Given the description of an element on the screen output the (x, y) to click on. 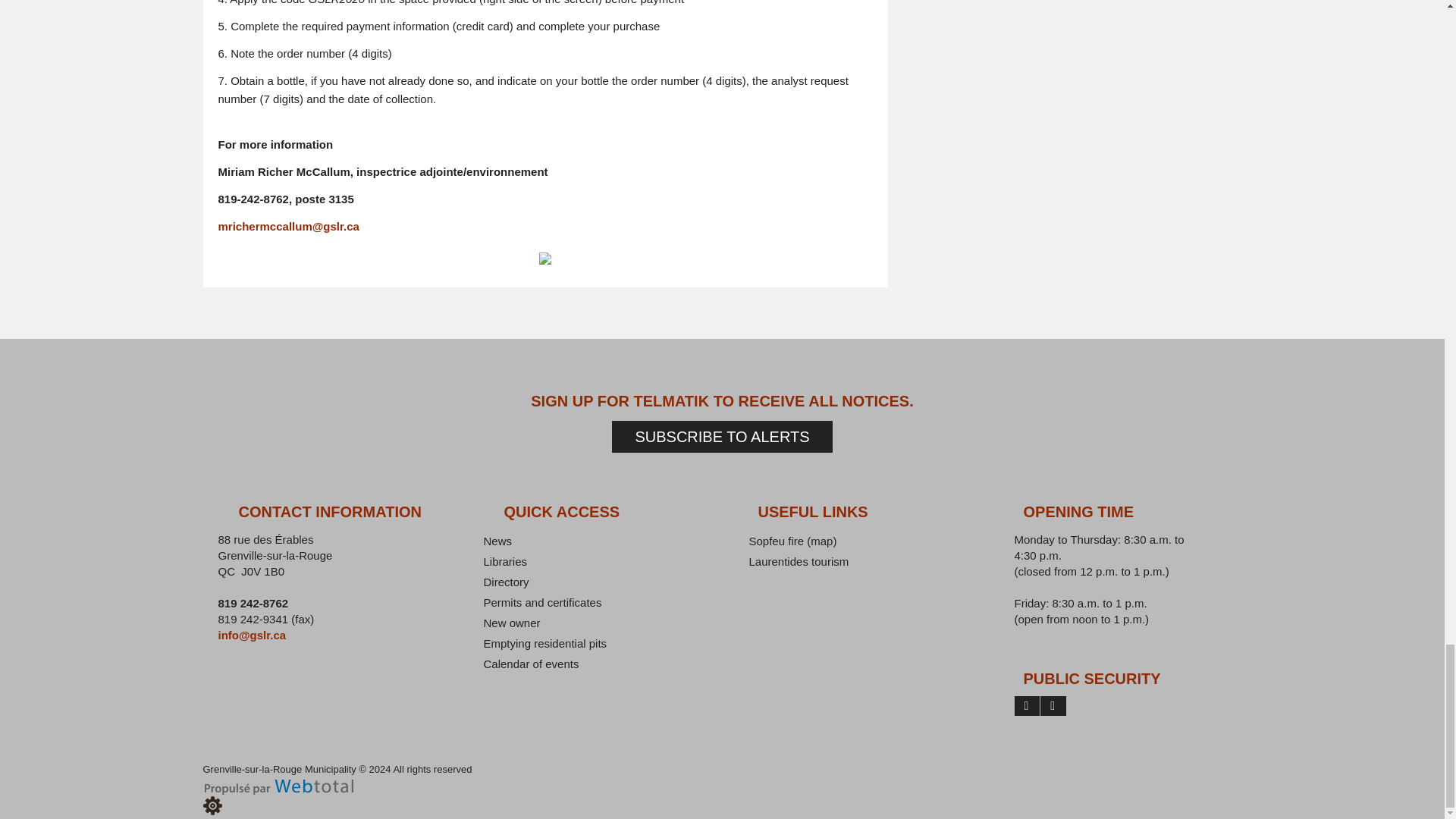
More information (671, 401)
